Given the description of an element on the screen output the (x, y) to click on. 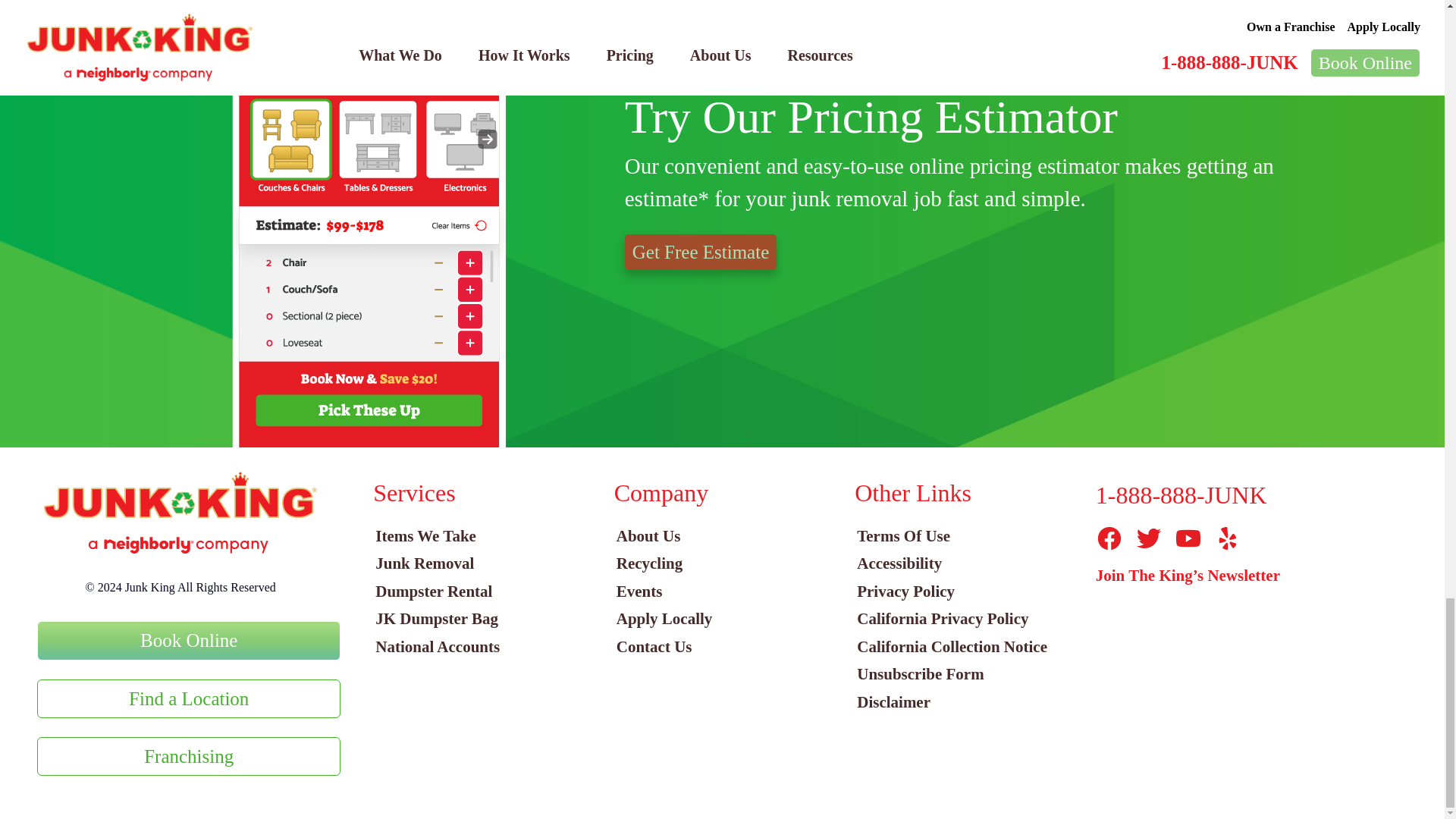
social icon (1148, 538)
social icon (1109, 538)
social icon (1188, 538)
logo (180, 512)
